Given the description of an element on the screen output the (x, y) to click on. 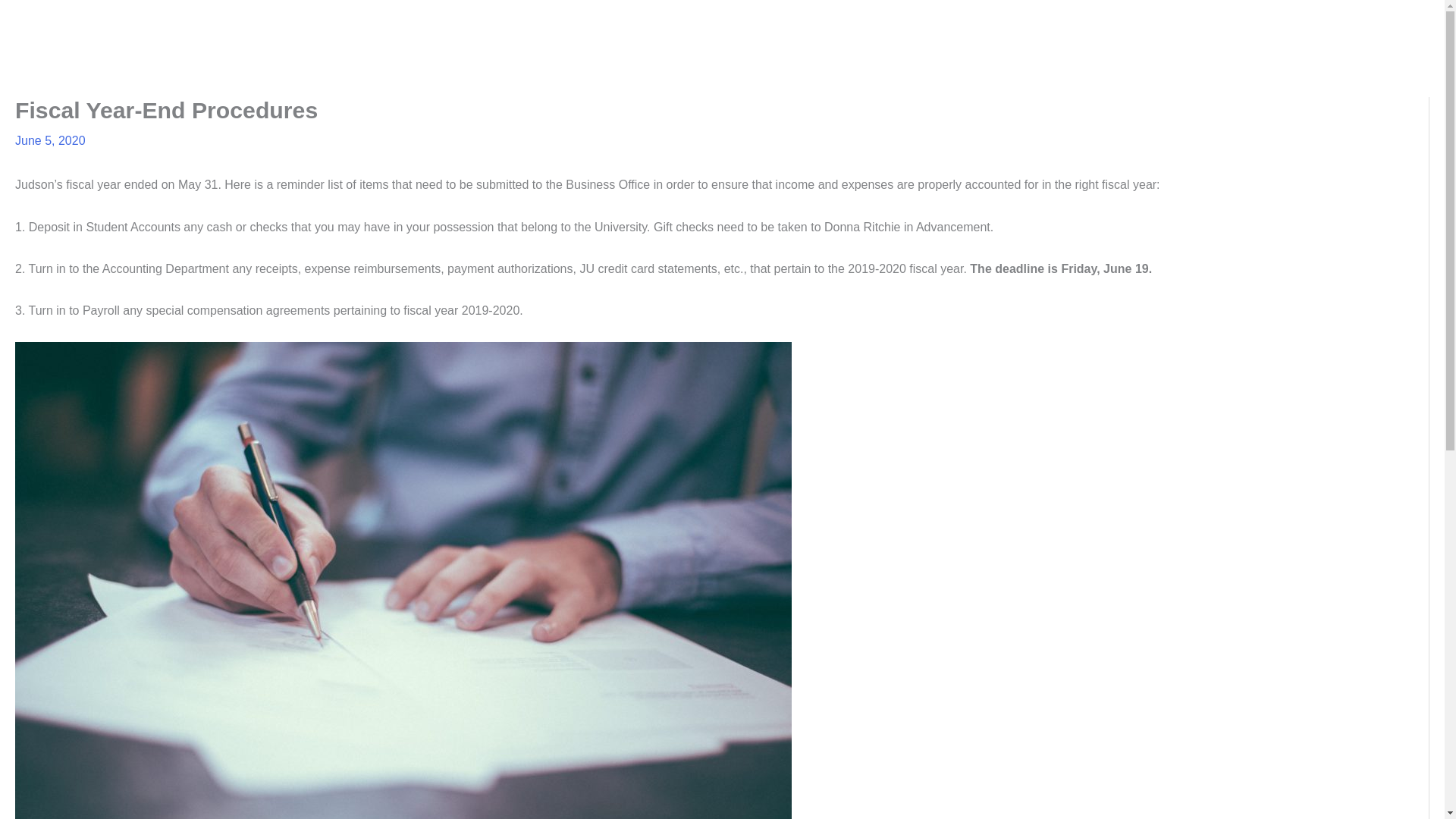
RECENT STORIES (897, 24)
BIRTHDAYS (1006, 24)
ATHLETICS SCHEDULE (1128, 24)
HOME (804, 24)
JUDSONU.EDU (1374, 24)
HELPFUL LINKS (1262, 24)
